Given the description of an element on the screen output the (x, y) to click on. 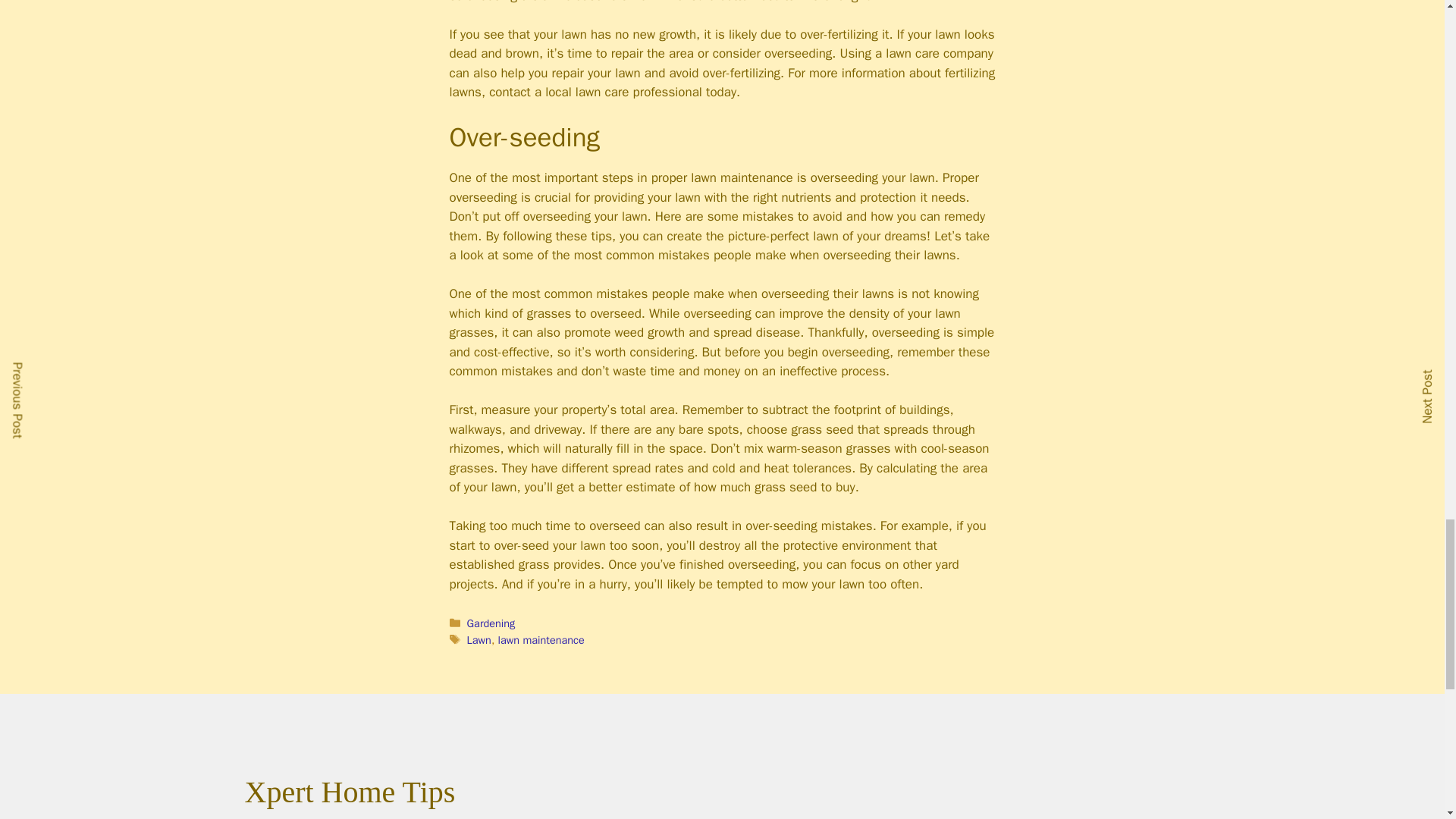
Gardening (491, 622)
Lawn (479, 640)
Xpert Home Tips (349, 791)
lawn maintenance (541, 640)
